Given the description of an element on the screen output the (x, y) to click on. 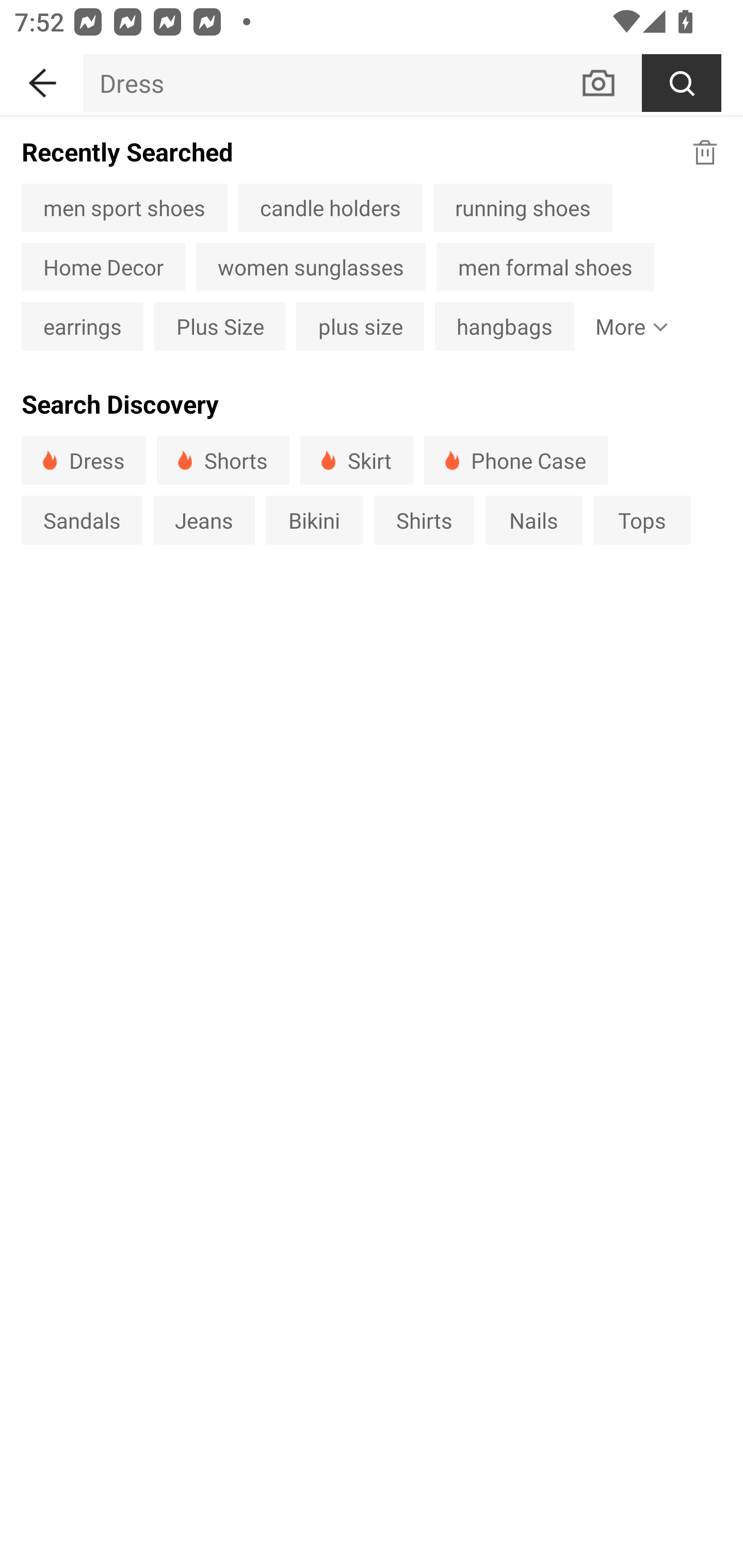
BACK (41, 79)
Dress (330, 82)
men sport shoes (124, 207)
candle holders (330, 207)
running shoes (522, 207)
Home Decor (103, 267)
women sunglasses (310, 267)
men formal shoes (545, 267)
earrings (82, 326)
Plus Size (219, 326)
plus size (360, 326)
hangbags (504, 326)
More Show More (626, 326)
Dress (83, 459)
Shorts (222, 459)
Skirt (356, 459)
Phone Case (515, 459)
Sandals (81, 519)
Jeans (203, 519)
Bikini (314, 519)
Shirts (423, 519)
Nails (533, 519)
Tops (641, 519)
